Given the description of an element on the screen output the (x, y) to click on. 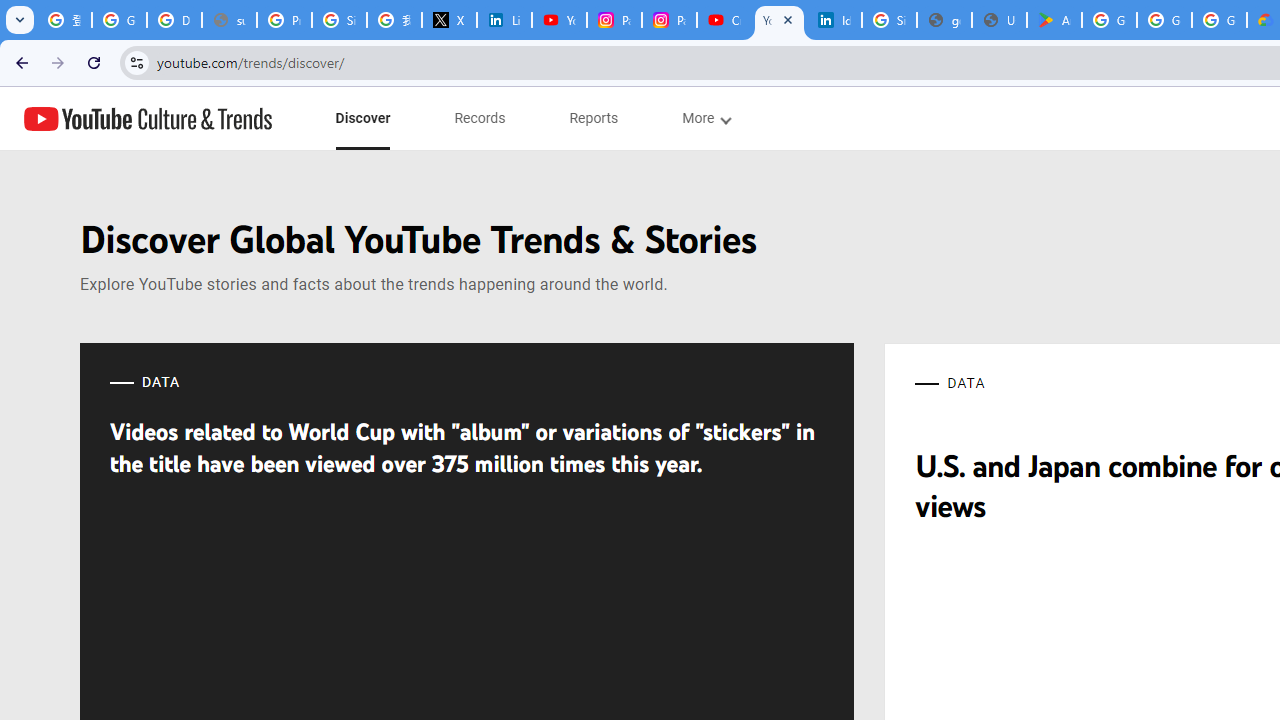
subnav-Reports menupopup (594, 118)
X (449, 20)
subnav-Records menupopup (479, 118)
subnav-More menupopup (706, 118)
subnav-Discover menupopup (362, 118)
subnav-Reports menupopup (594, 118)
Google Workspace - Specific Terms (1163, 20)
